Given the description of an element on the screen output the (x, y) to click on. 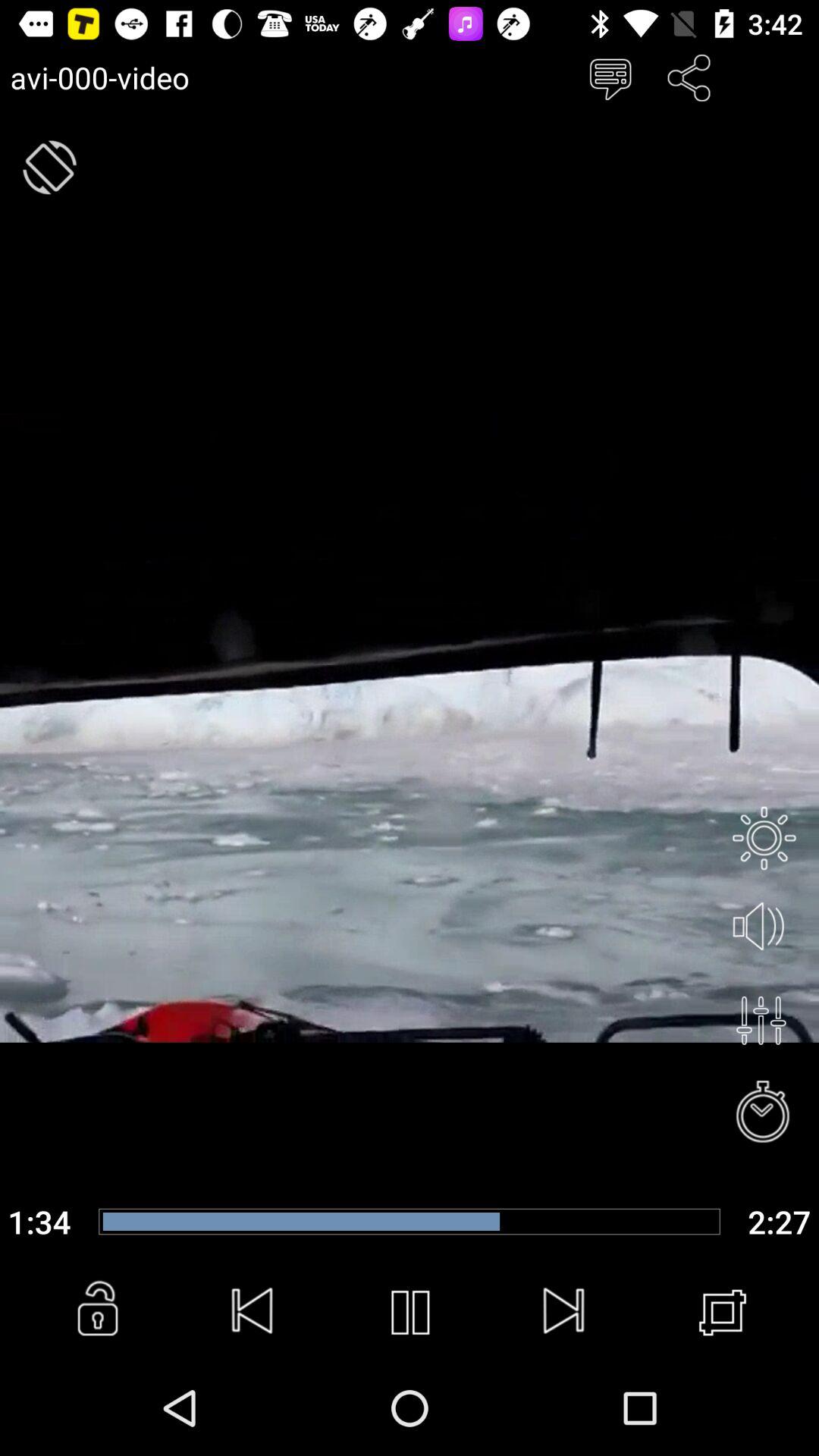
flip button (49, 167)
